Given the description of an element on the screen output the (x, y) to click on. 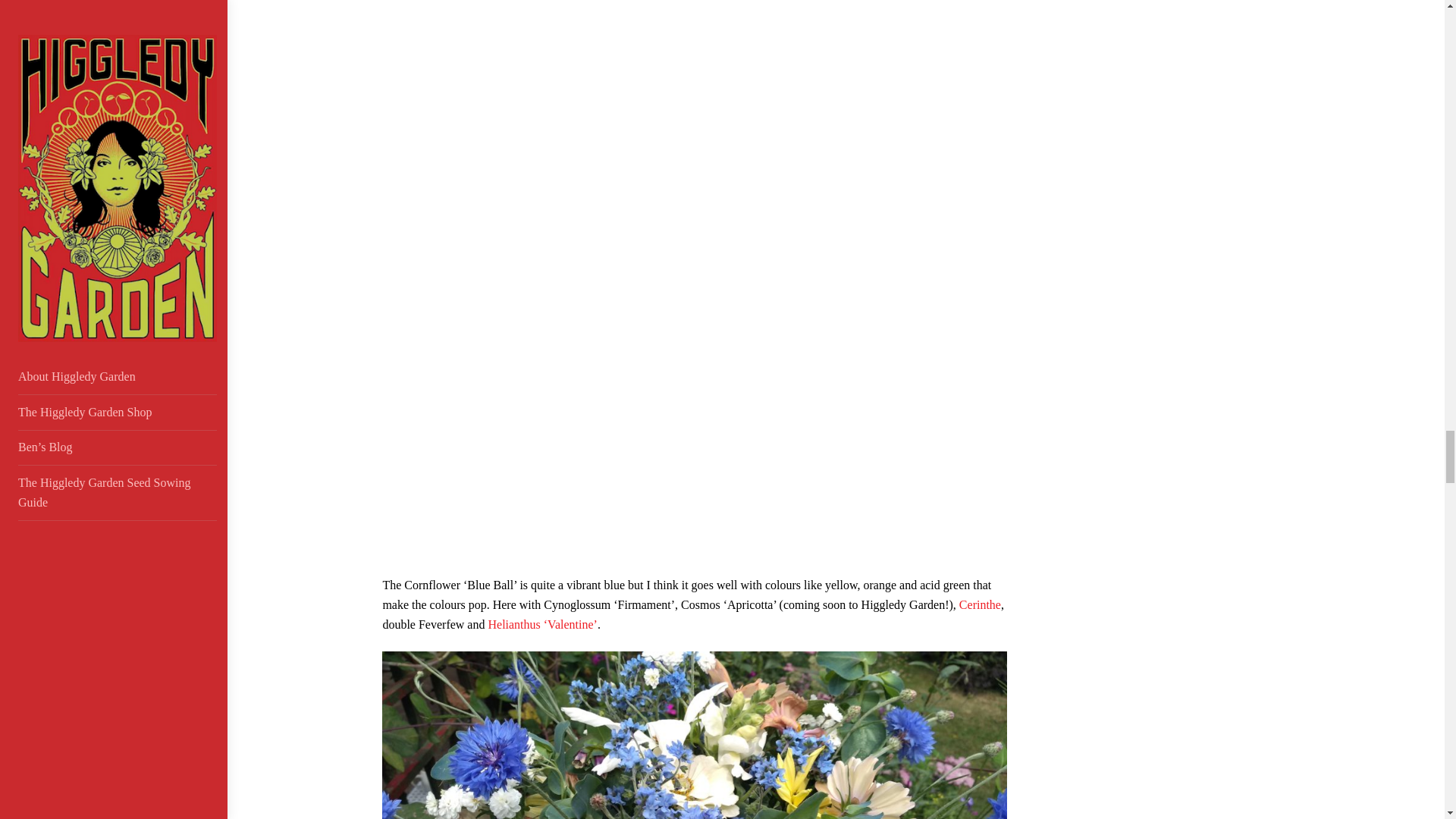
Cerinthe (980, 604)
